Given the description of an element on the screen output the (x, y) to click on. 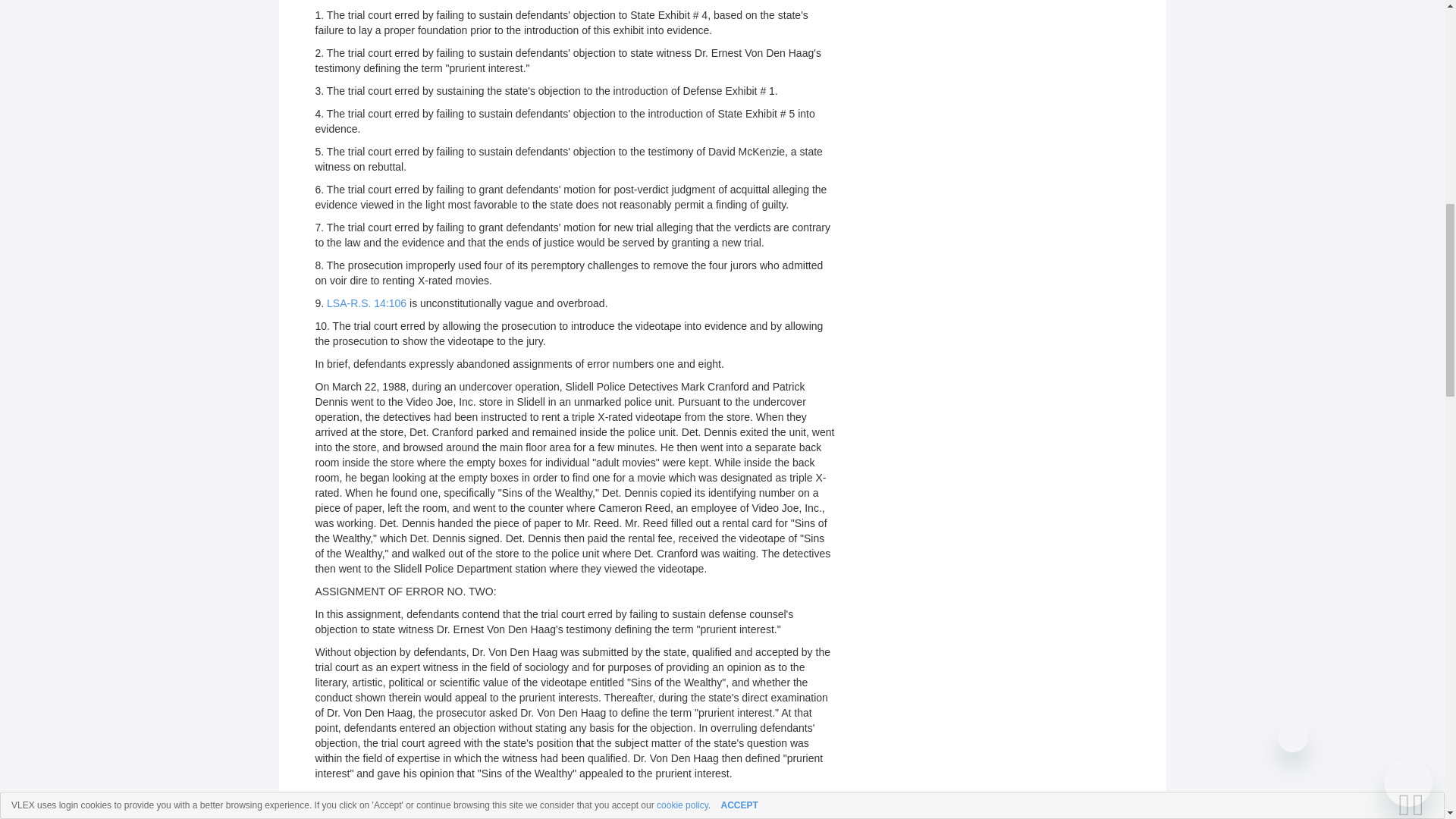
LSA-R.S. 14:106 (366, 303)
